Given the description of an element on the screen output the (x, y) to click on. 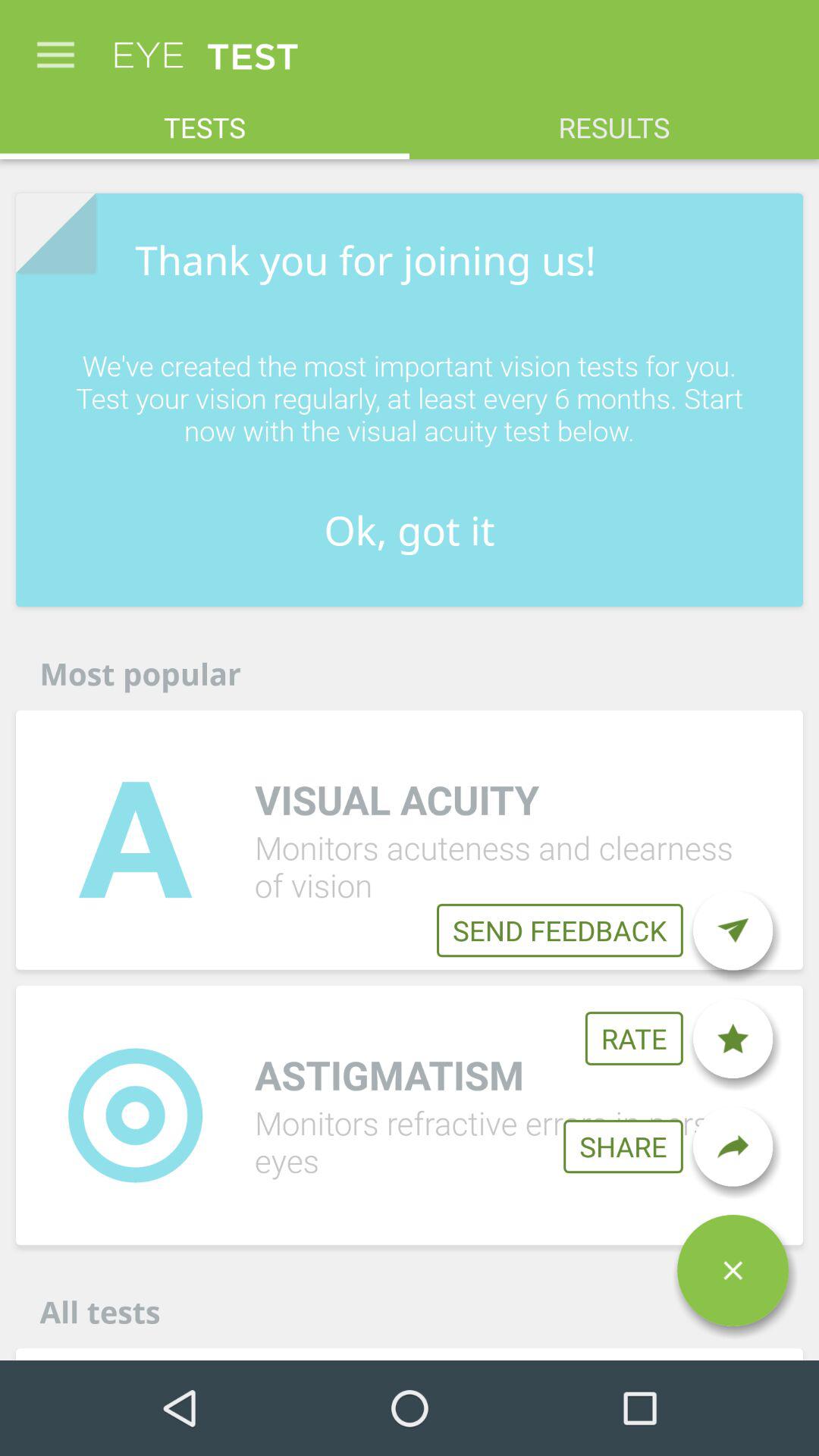
click on send feedback (559, 930)
